Given the description of an element on the screen output the (x, y) to click on. 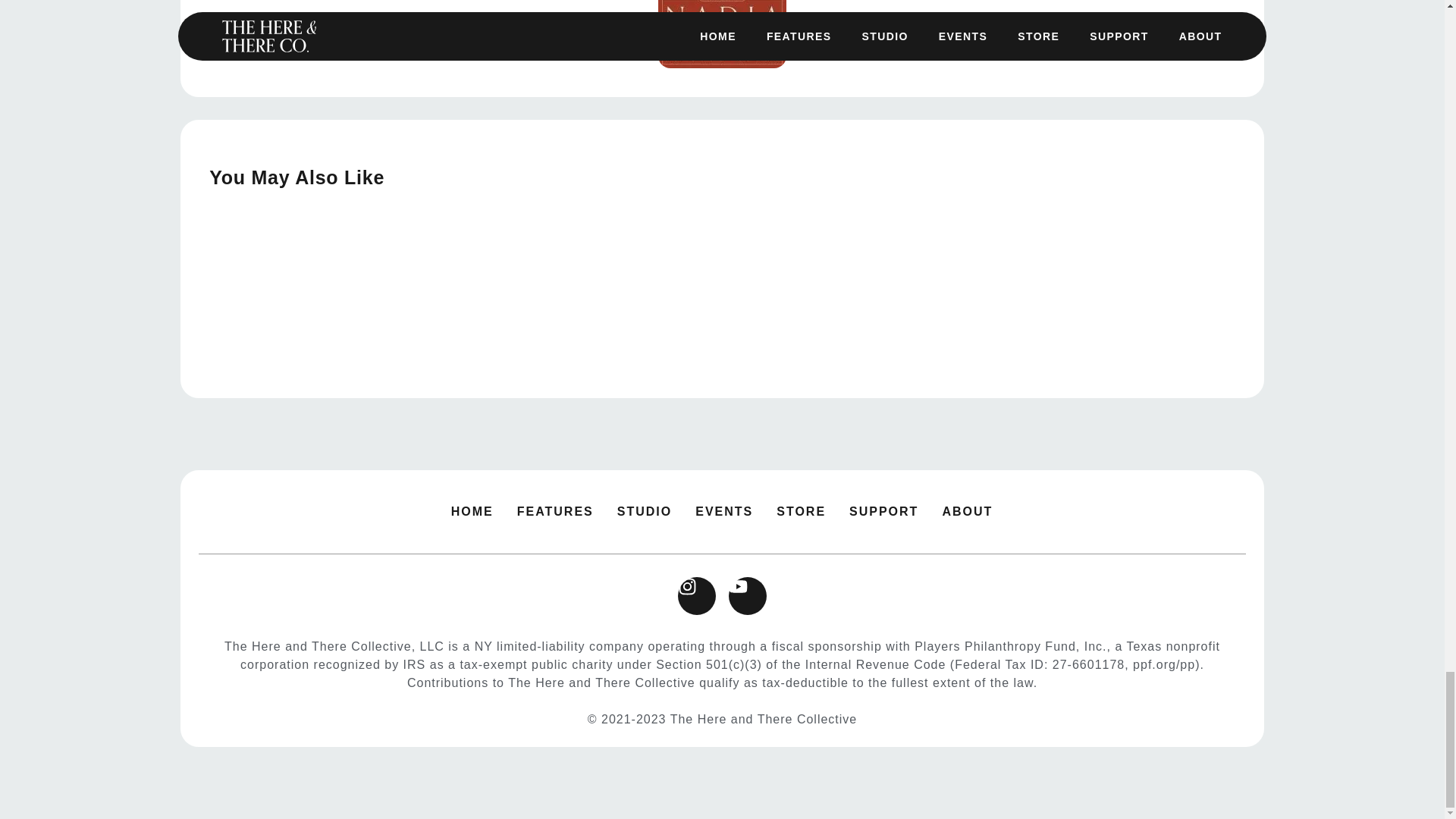
HOME (472, 511)
EVENTS (723, 511)
FEATURES (555, 511)
STUDIO (644, 511)
